Given the description of an element on the screen output the (x, y) to click on. 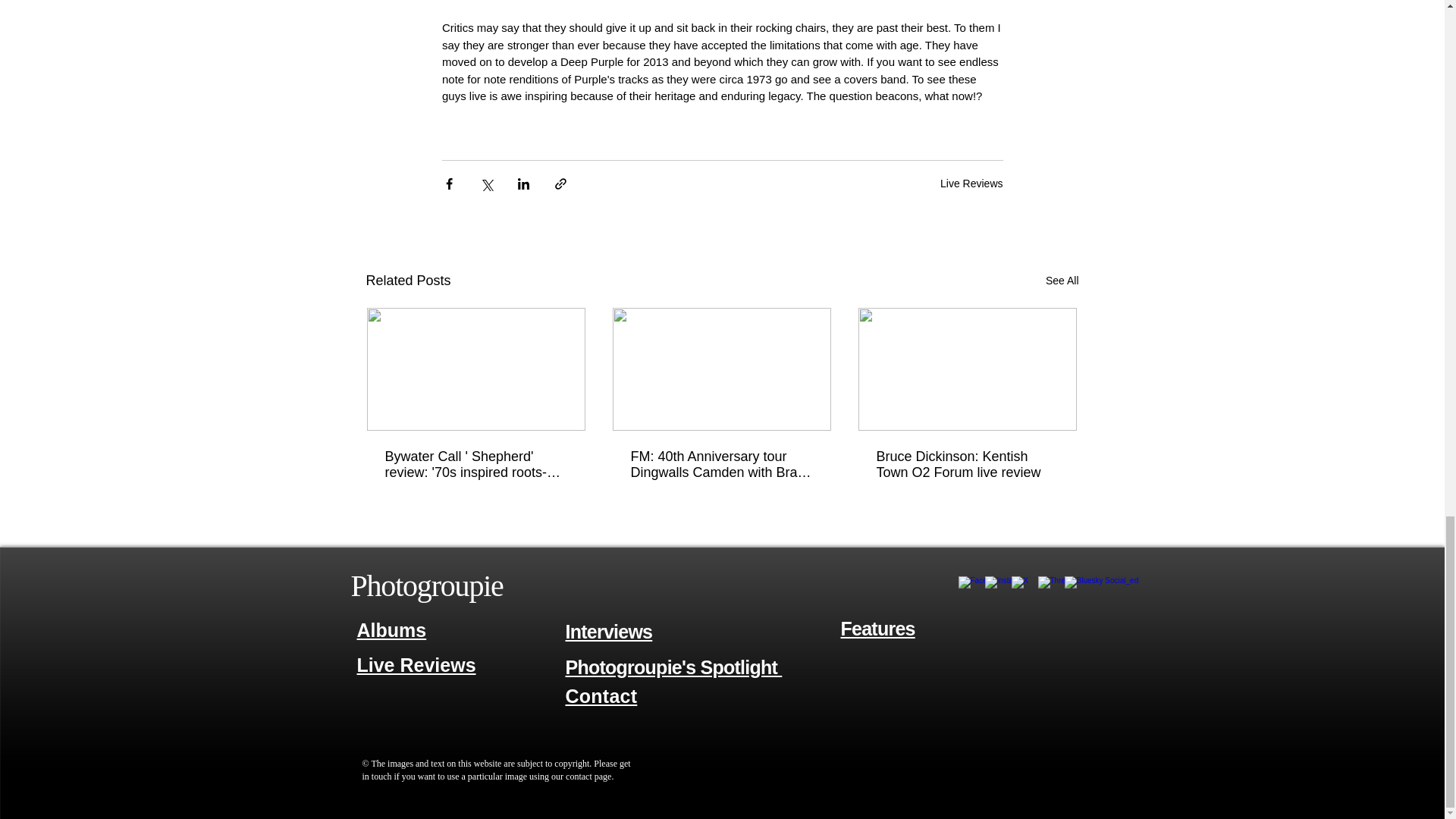
Interviews (609, 631)
Bruce Dickinson: Kentish Town O2 Forum live review (967, 464)
FM: 40th Anniversary tour Dingwalls Camden with Brave Rival (721, 464)
Live Reviews (416, 665)
Photogroupie (426, 585)
See All (1061, 280)
Live Reviews (971, 183)
Albums (391, 629)
Photogroupie's Spotlight  (674, 667)
